Given the description of an element on the screen output the (x, y) to click on. 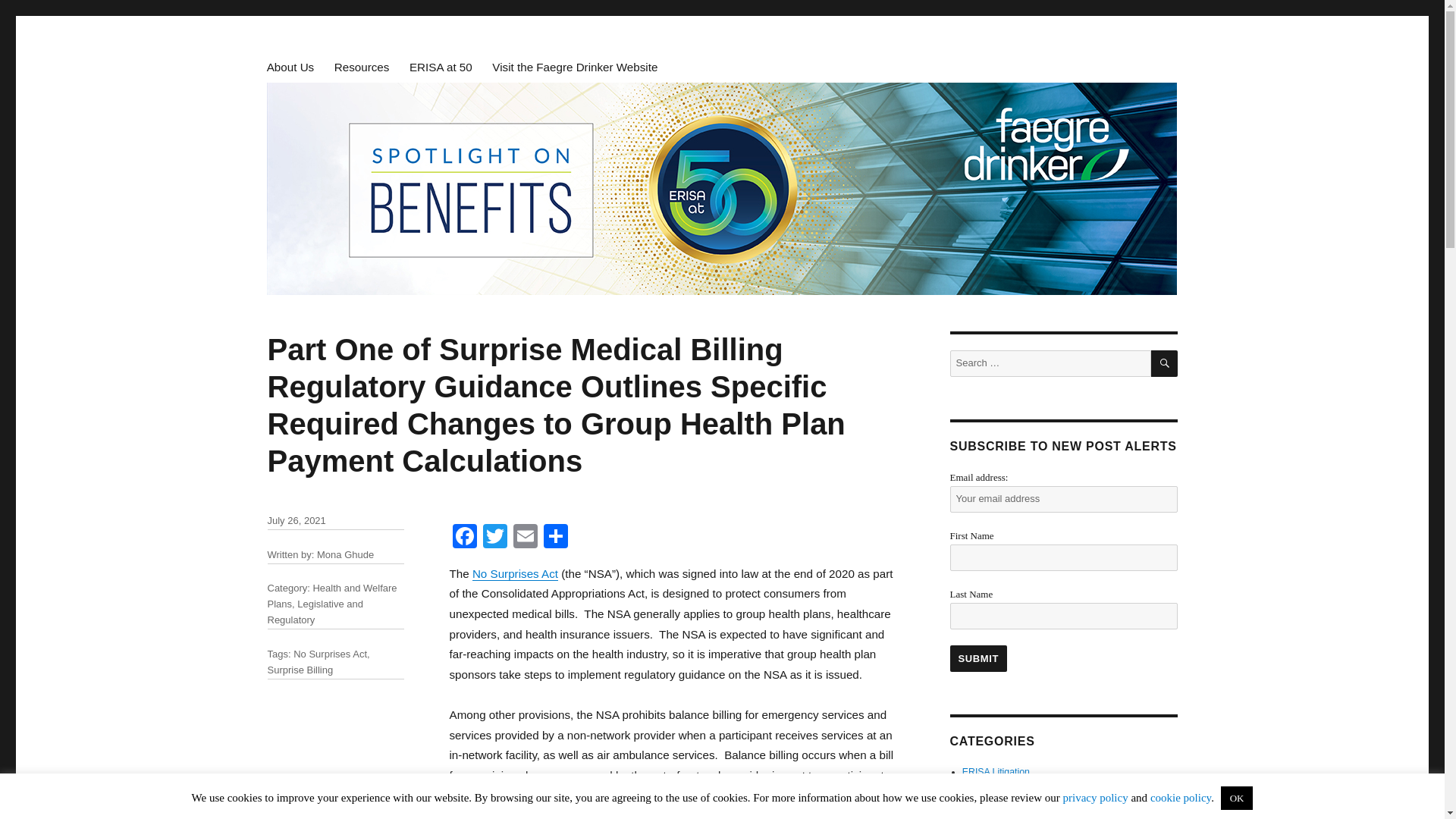
submit (978, 658)
Email (524, 538)
No Surprises Act (514, 573)
ERISA Litigation (995, 771)
ERISA at 50 (439, 67)
Twitter (494, 538)
Resources (361, 67)
Posts by Mona Ghude (345, 554)
Executive Compensation (1013, 801)
About Us (289, 67)
Twitter (494, 538)
Health and Welfare Plans (331, 595)
General (978, 815)
submit (978, 658)
Mona Ghude (345, 554)
